Given the description of an element on the screen output the (x, y) to click on. 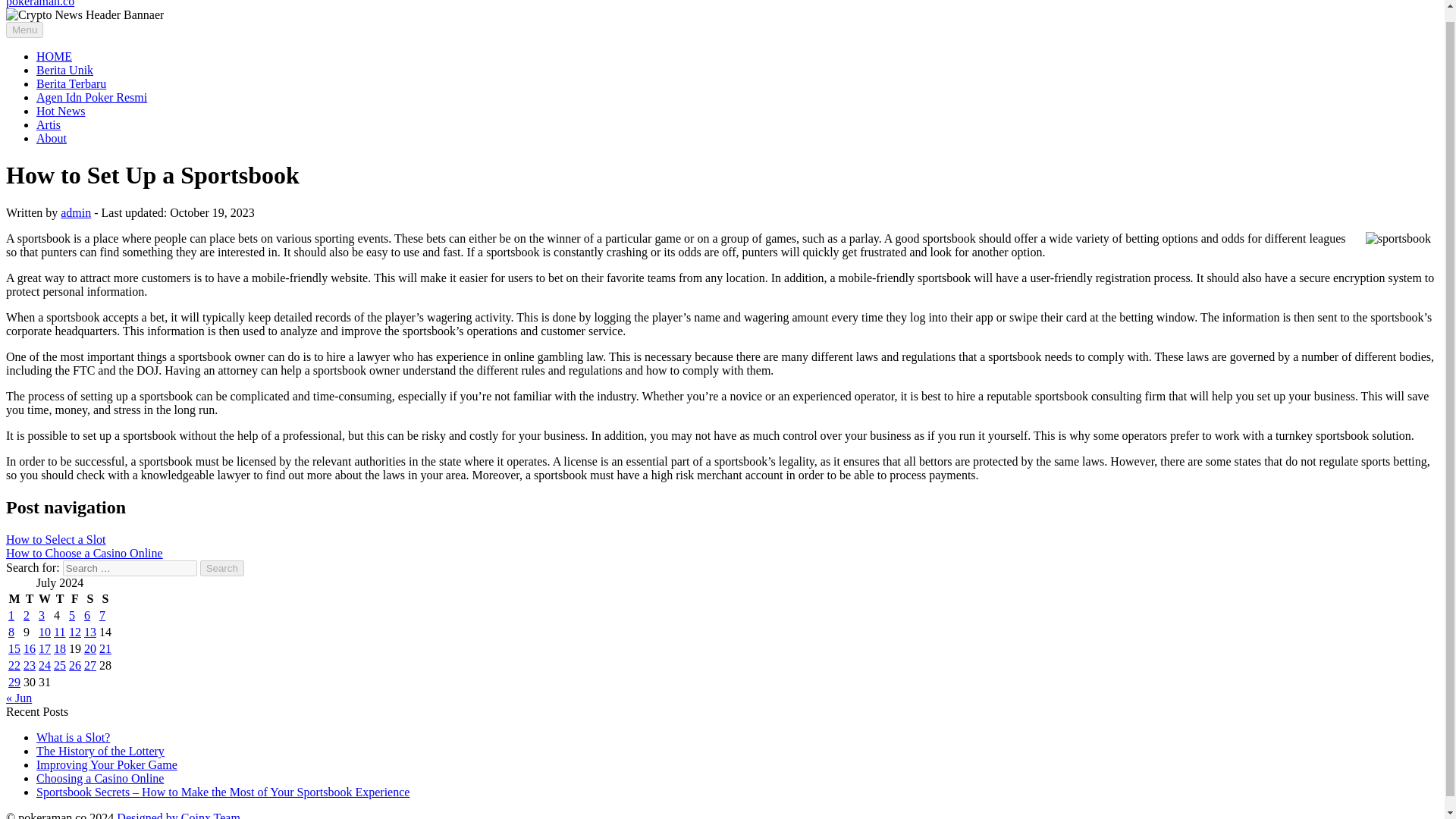
About (51, 137)
26 (74, 665)
Monday (14, 598)
25 (59, 665)
Search (222, 568)
Search (222, 568)
The History of the Lottery (100, 750)
20 (90, 648)
13 (90, 631)
Friday (74, 598)
admin (75, 212)
How to Select a Slot (55, 539)
HOME (53, 56)
15 (14, 648)
22 (14, 665)
